Given the description of an element on the screen output the (x, y) to click on. 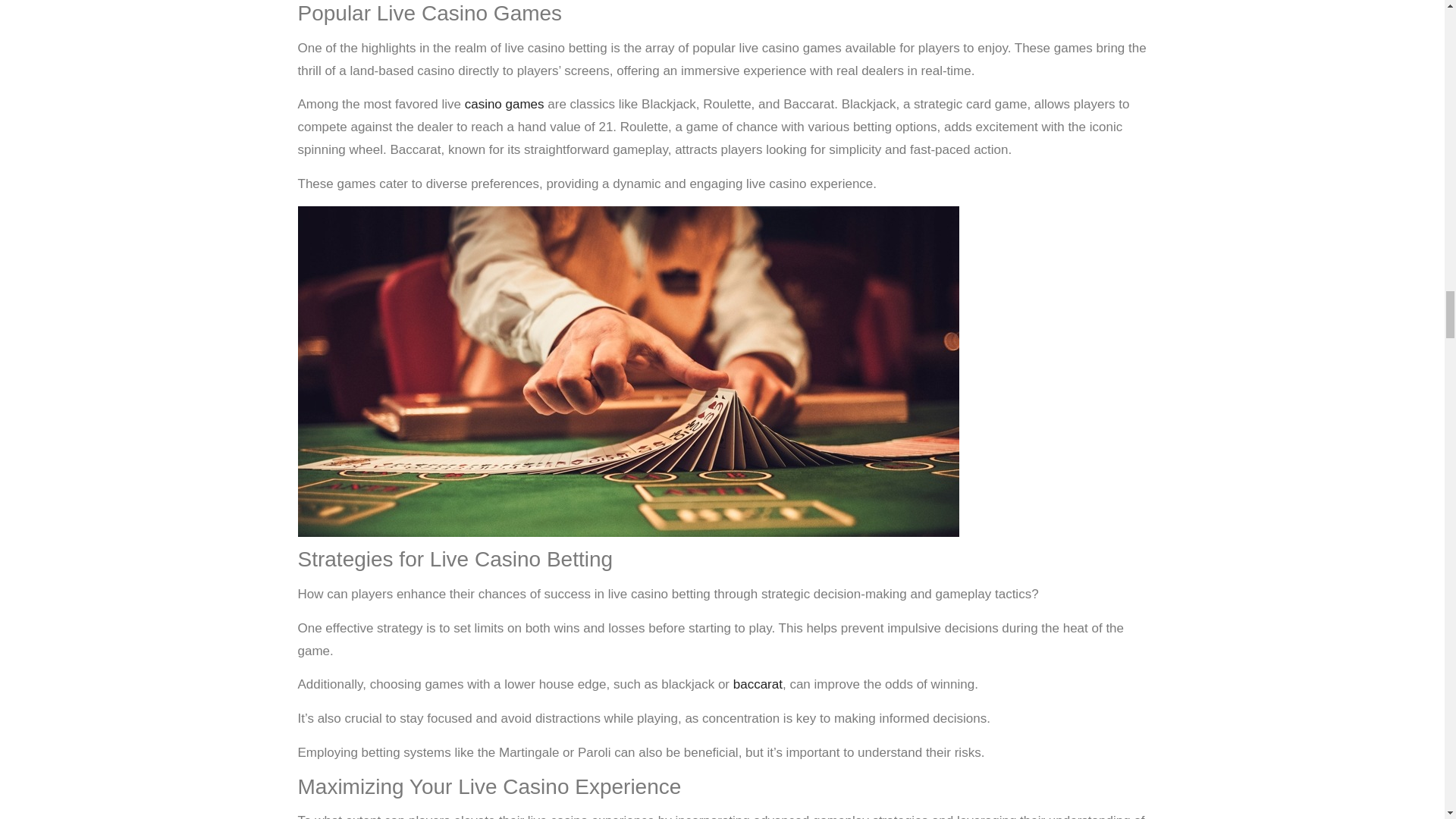
baccarat (758, 684)
casino games (504, 104)
